Given the description of an element on the screen output the (x, y) to click on. 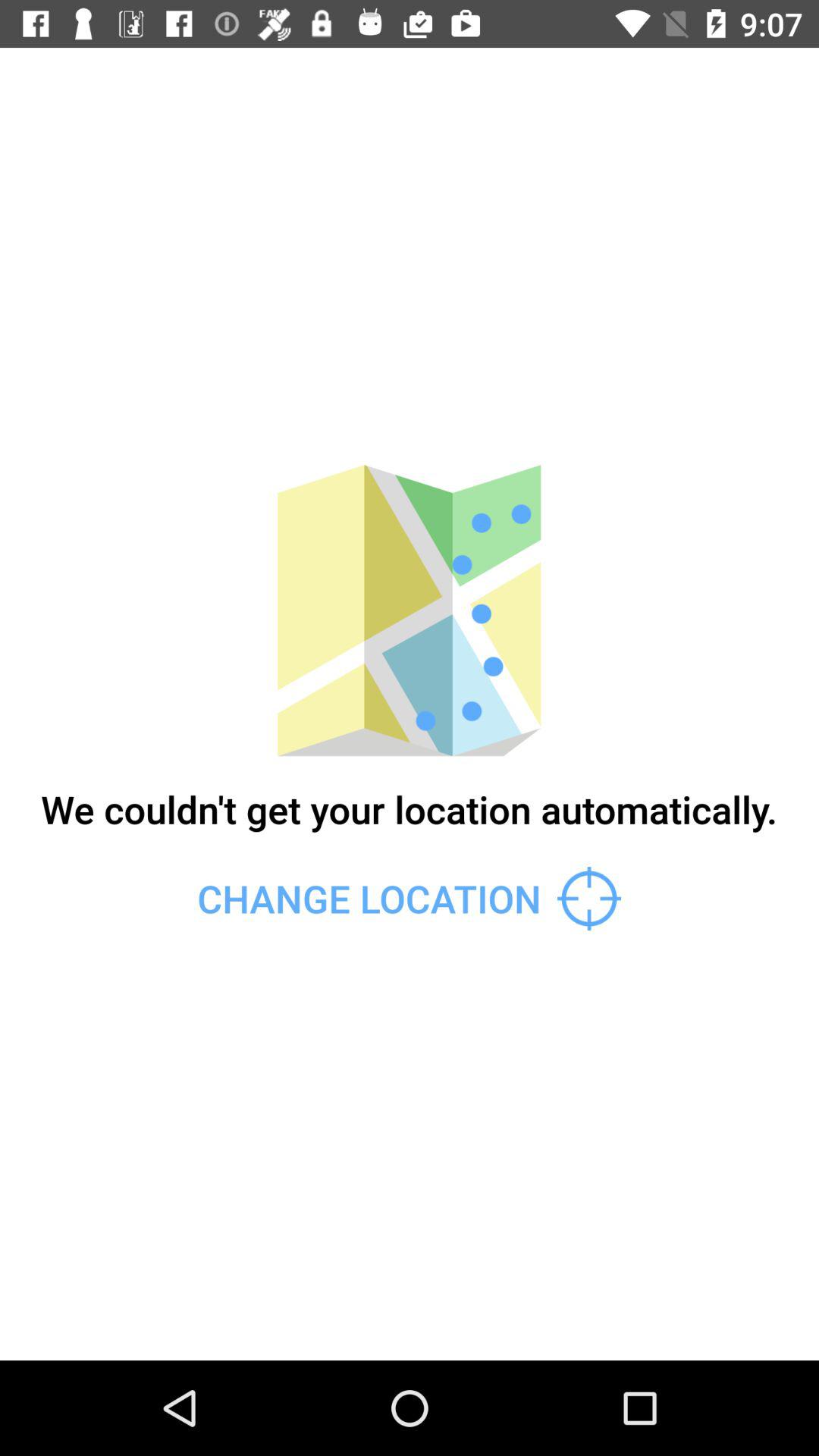
flip to change location (409, 898)
